Given the description of an element on the screen output the (x, y) to click on. 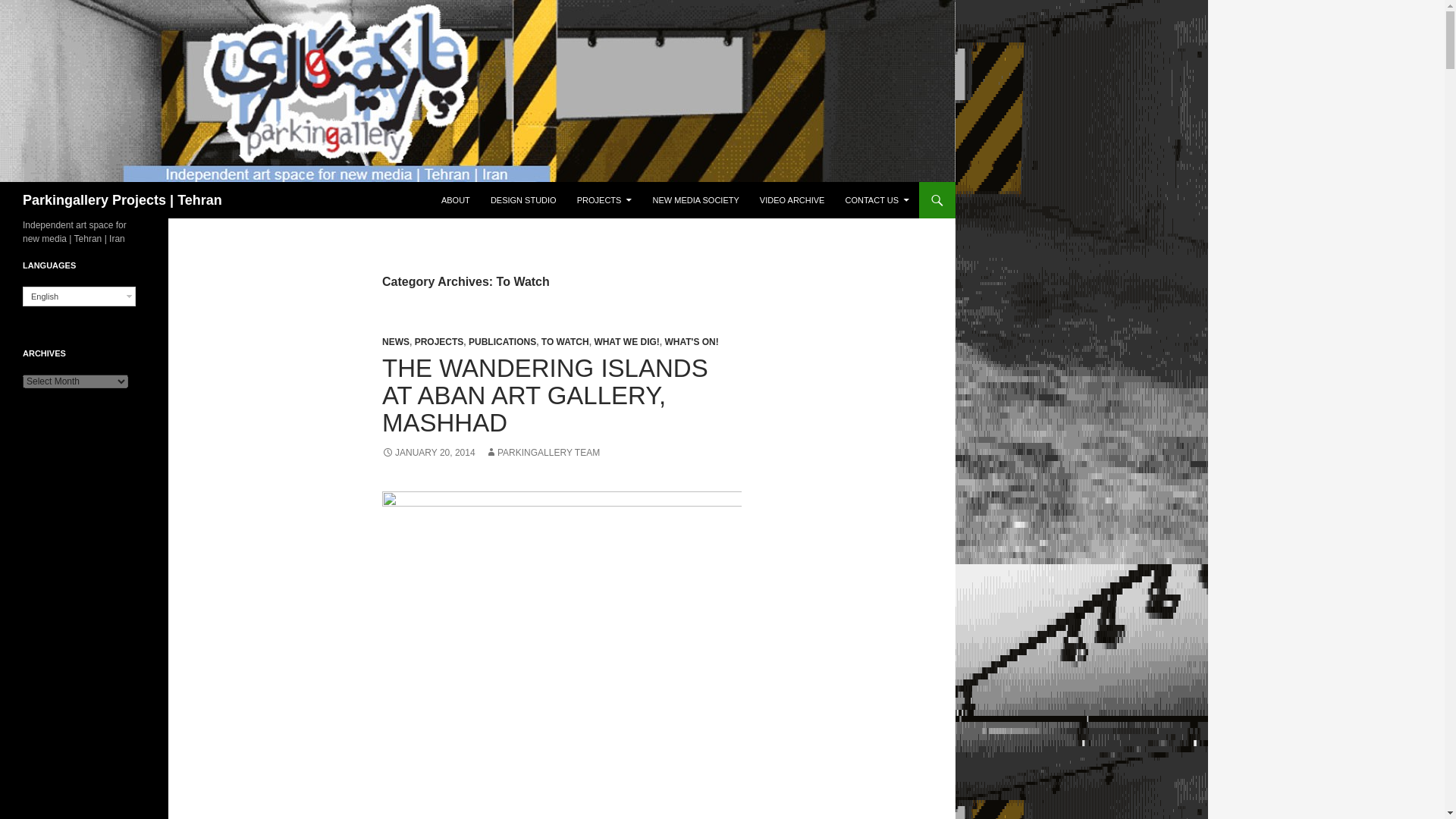
CONTACT US (876, 199)
NEWS (395, 341)
THE WANDERING ISLANDS AT ABAN ART GALLERY, MASHHAD (544, 394)
PROJECTS (604, 199)
WHAT'S ON! (690, 341)
TO WATCH (565, 341)
PUBLICATIONS (501, 341)
DESIGN STUDIO (523, 199)
